Given the description of an element on the screen output the (x, y) to click on. 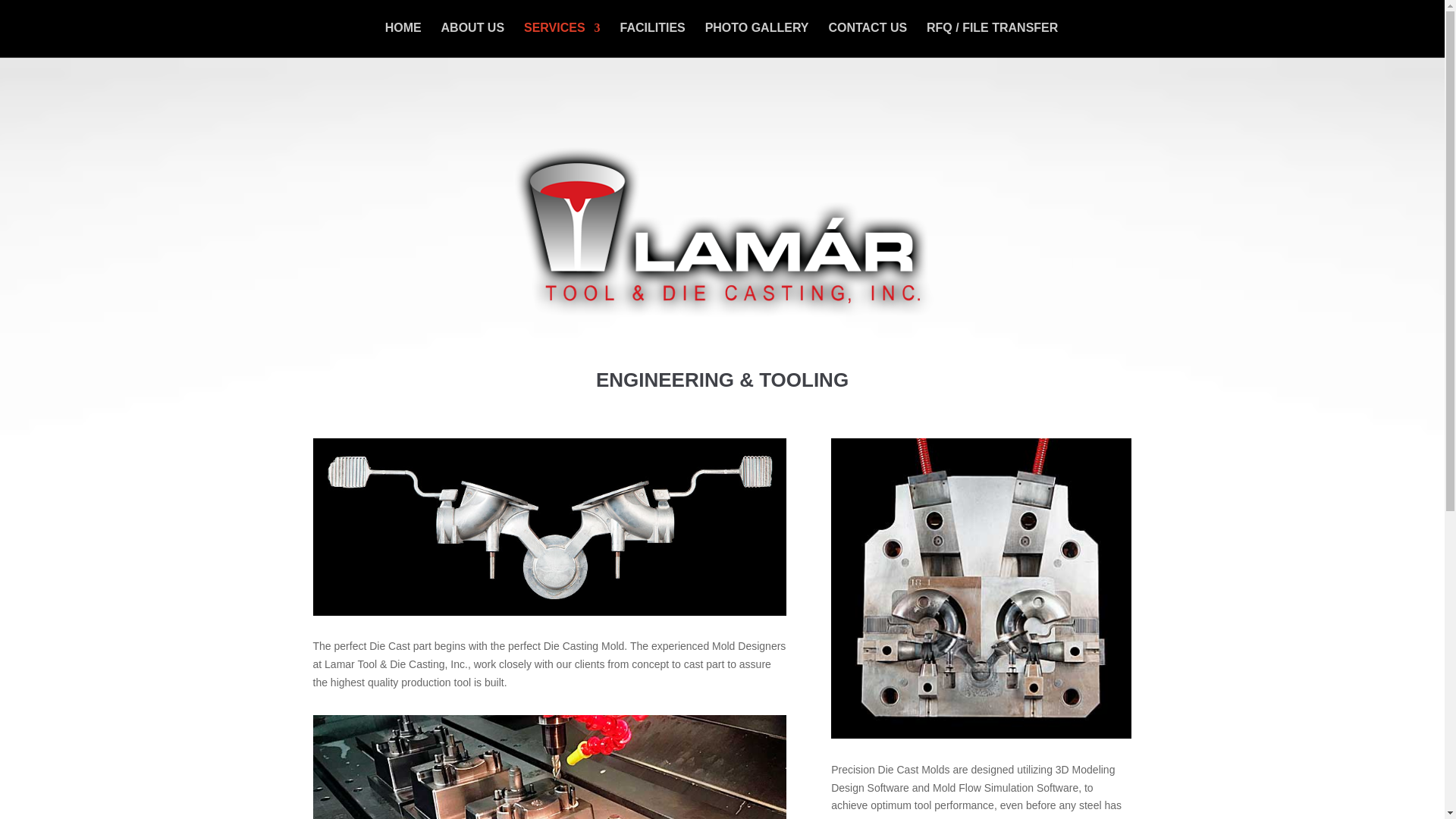
ABOUT US (473, 39)
SERVICES (561, 39)
FACILITIES (652, 39)
intsmpart1 (981, 588)
HOME (403, 39)
Lamarhplogo2 (722, 232)
CONTACT US (867, 39)
PHOTO GALLERY (756, 39)
